Given the description of an element on the screen output the (x, y) to click on. 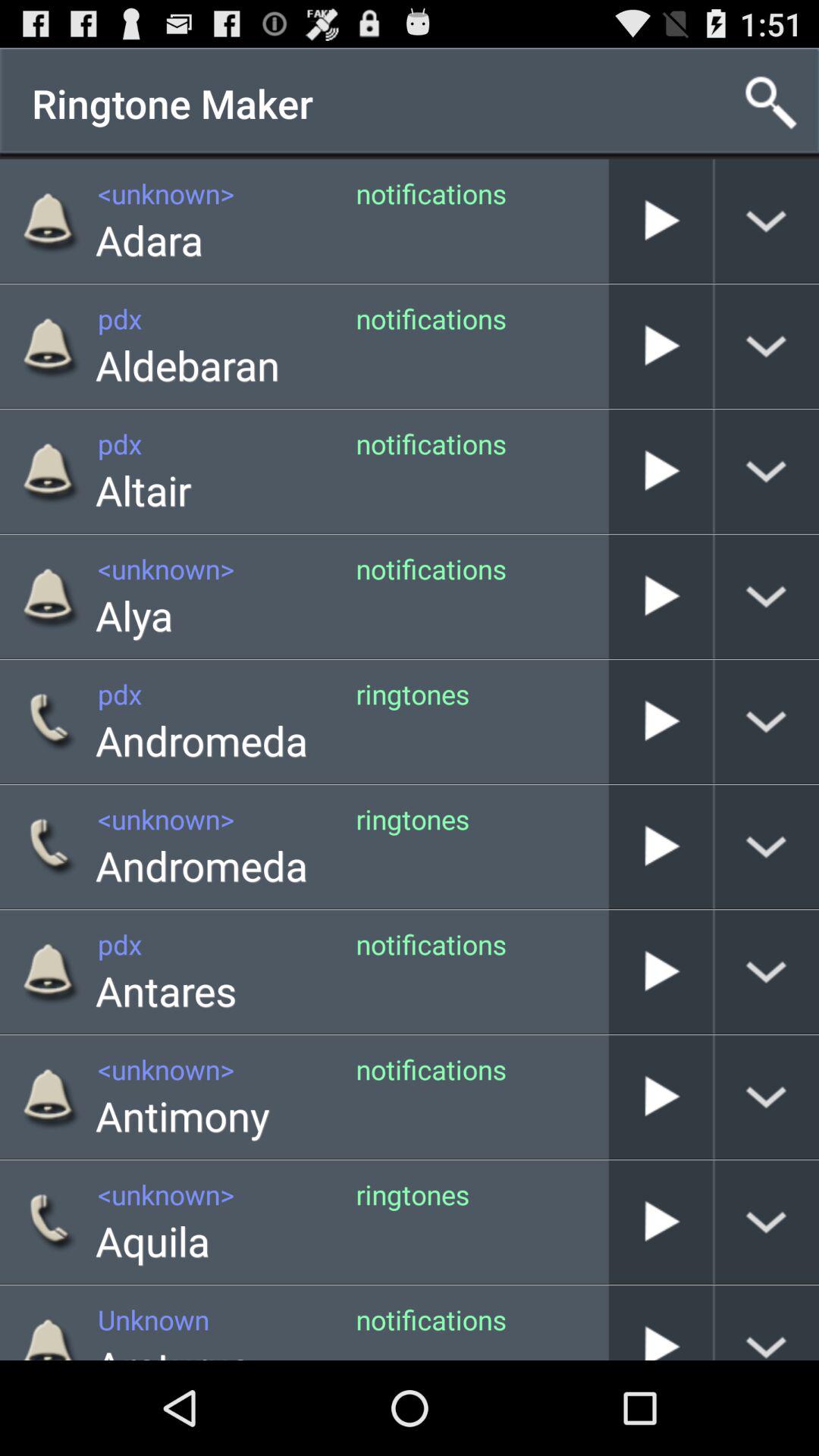
play (660, 1322)
